Given the description of an element on the screen output the (x, y) to click on. 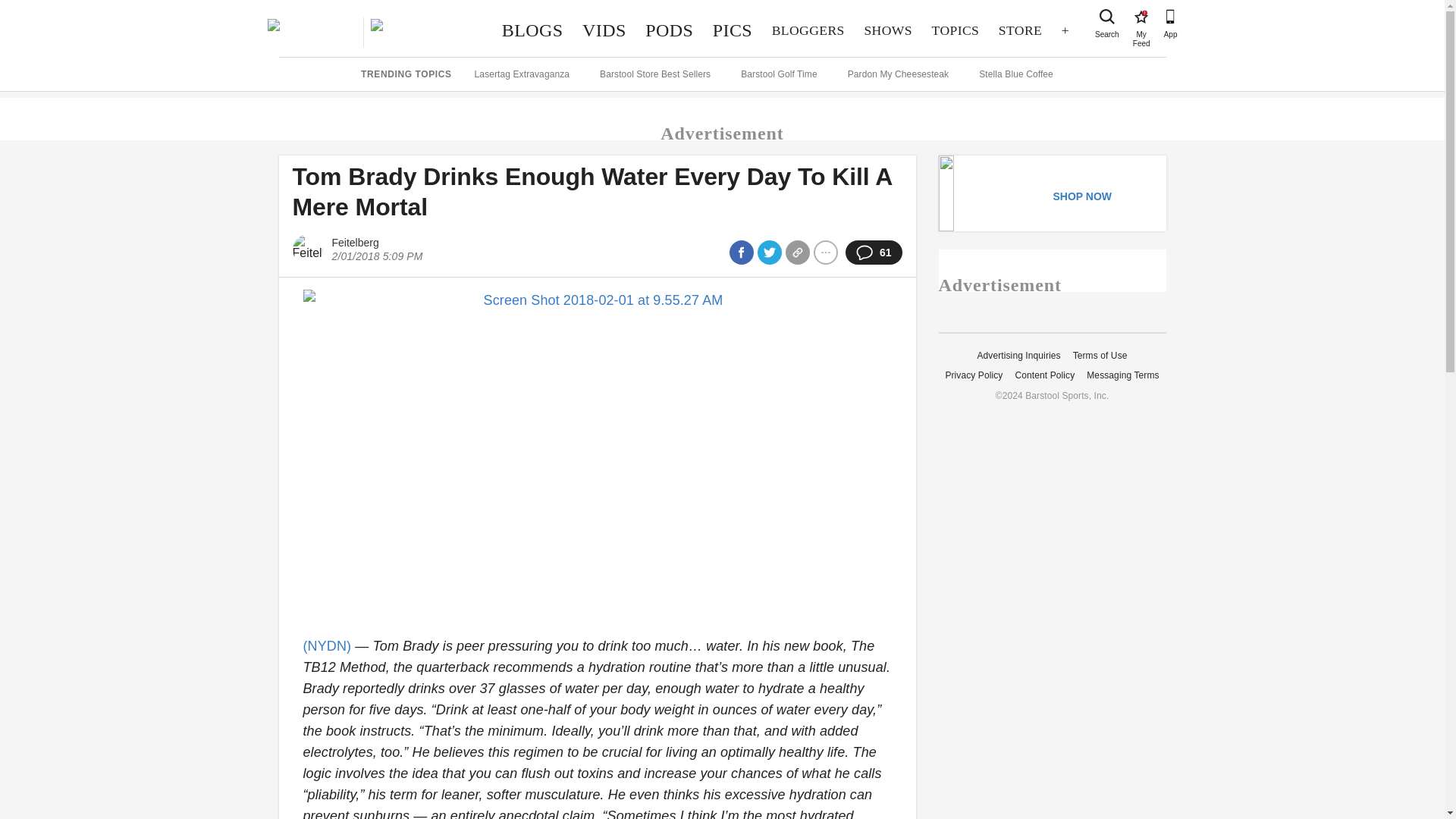
VIDS (603, 30)
TOPICS (954, 30)
BLOGS (532, 30)
Search (1107, 16)
BLOGGERS (807, 30)
SHOWS (887, 30)
PICS (732, 30)
PODS (668, 30)
STORE (1141, 16)
